Given the description of an element on the screen output the (x, y) to click on. 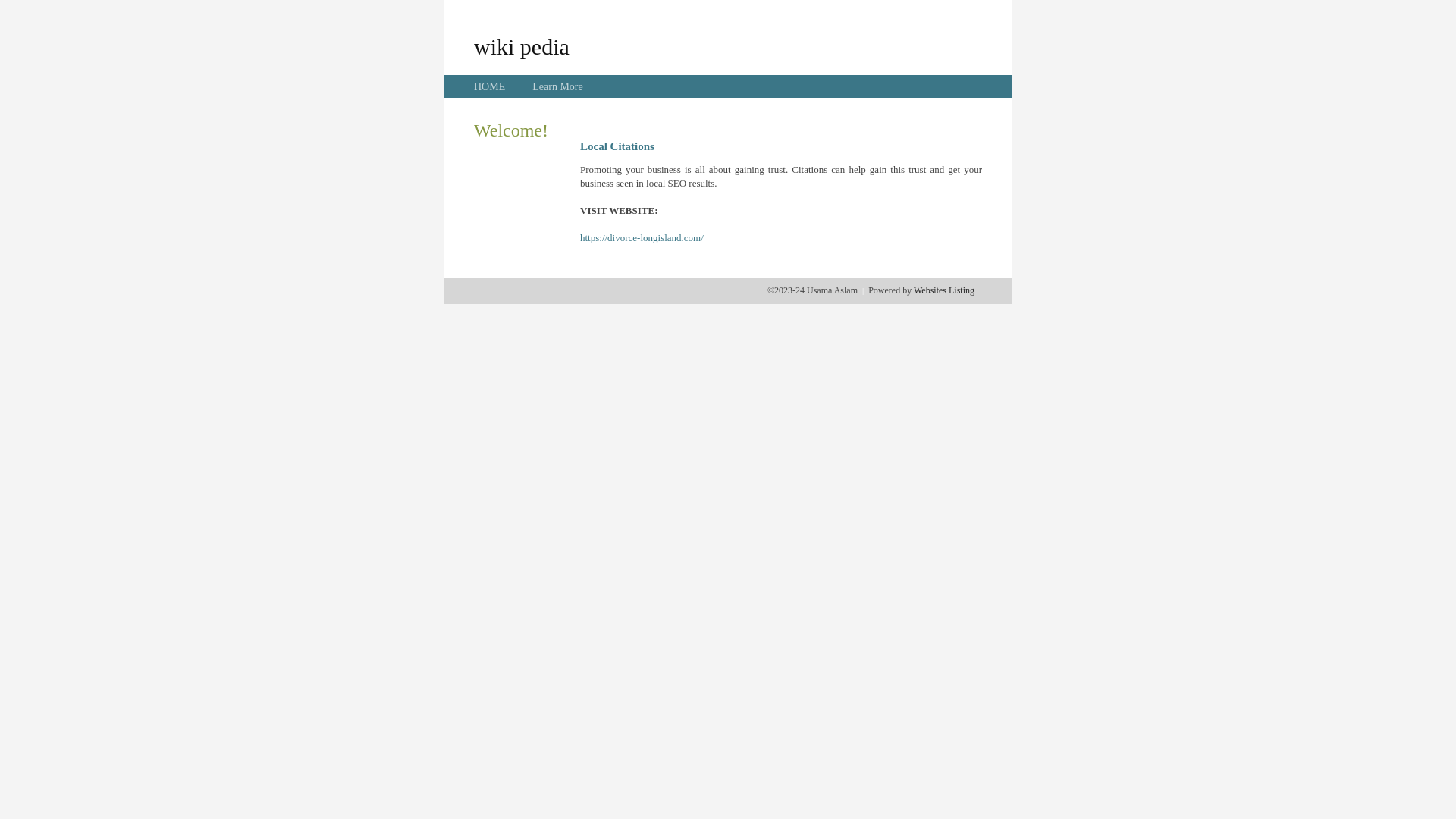
HOME Element type: text (489, 86)
https://divorce-longisland.com/ Element type: text (641, 237)
Websites Listing Element type: text (943, 290)
Learn More Element type: text (557, 86)
wiki pedia Element type: text (521, 46)
